Given the description of an element on the screen output the (x, y) to click on. 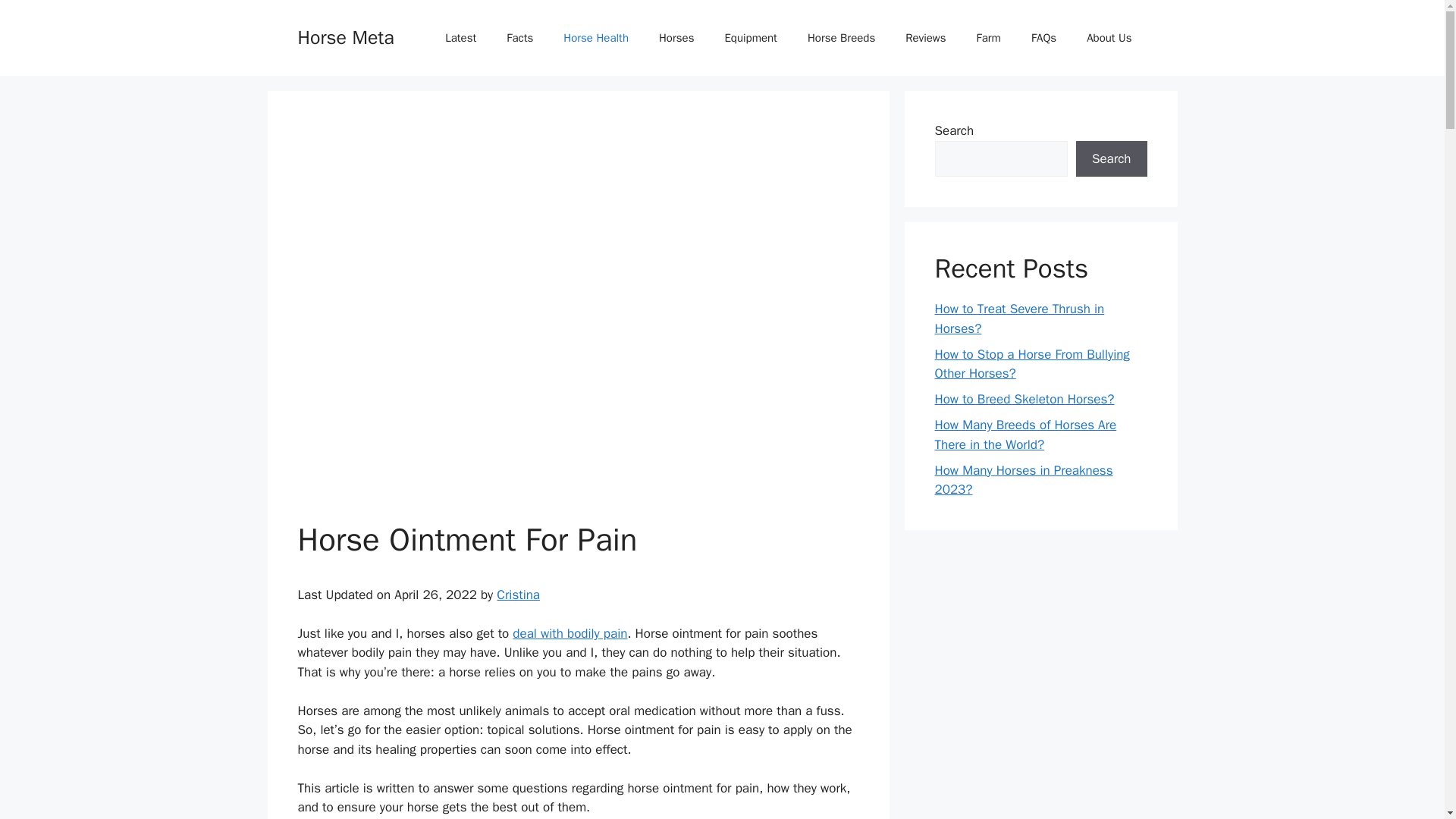
Horse Health (595, 37)
FAQs (1043, 37)
Horses (676, 37)
Farm (988, 37)
Horse Meta (345, 37)
About Us (1109, 37)
Latest (460, 37)
Facts (520, 37)
Horse Breeds (840, 37)
Reviews (924, 37)
Equipment (750, 37)
Cristina (518, 594)
deal with bodily pain (569, 633)
